Given the description of an element on the screen output the (x, y) to click on. 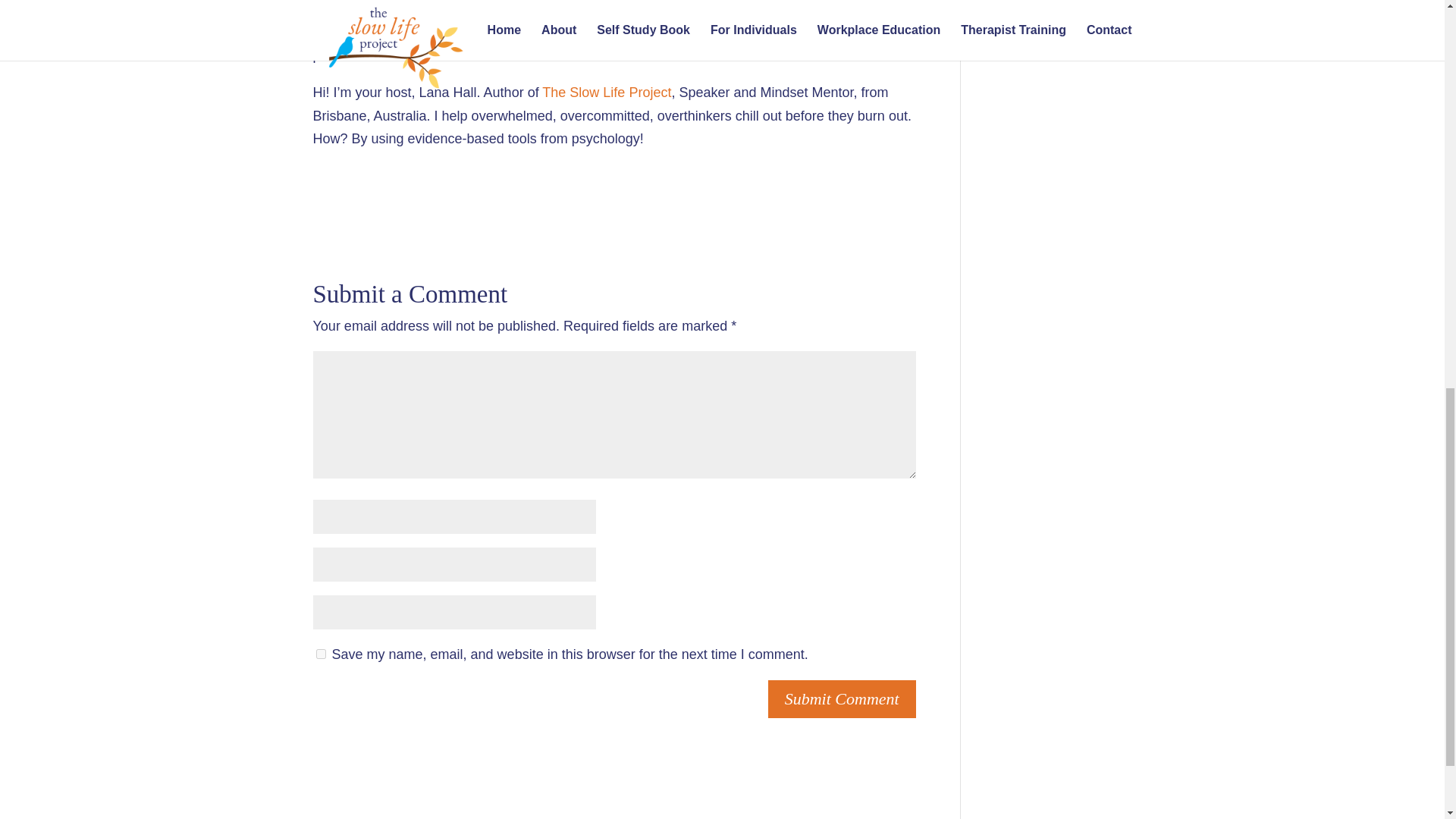
Submit Comment (841, 699)
The Slow Life Project approach to personal development (629, 32)
Submit Comment (841, 699)
The Slow Life Project (606, 92)
yes (319, 654)
